Given the description of an element on the screen output the (x, y) to click on. 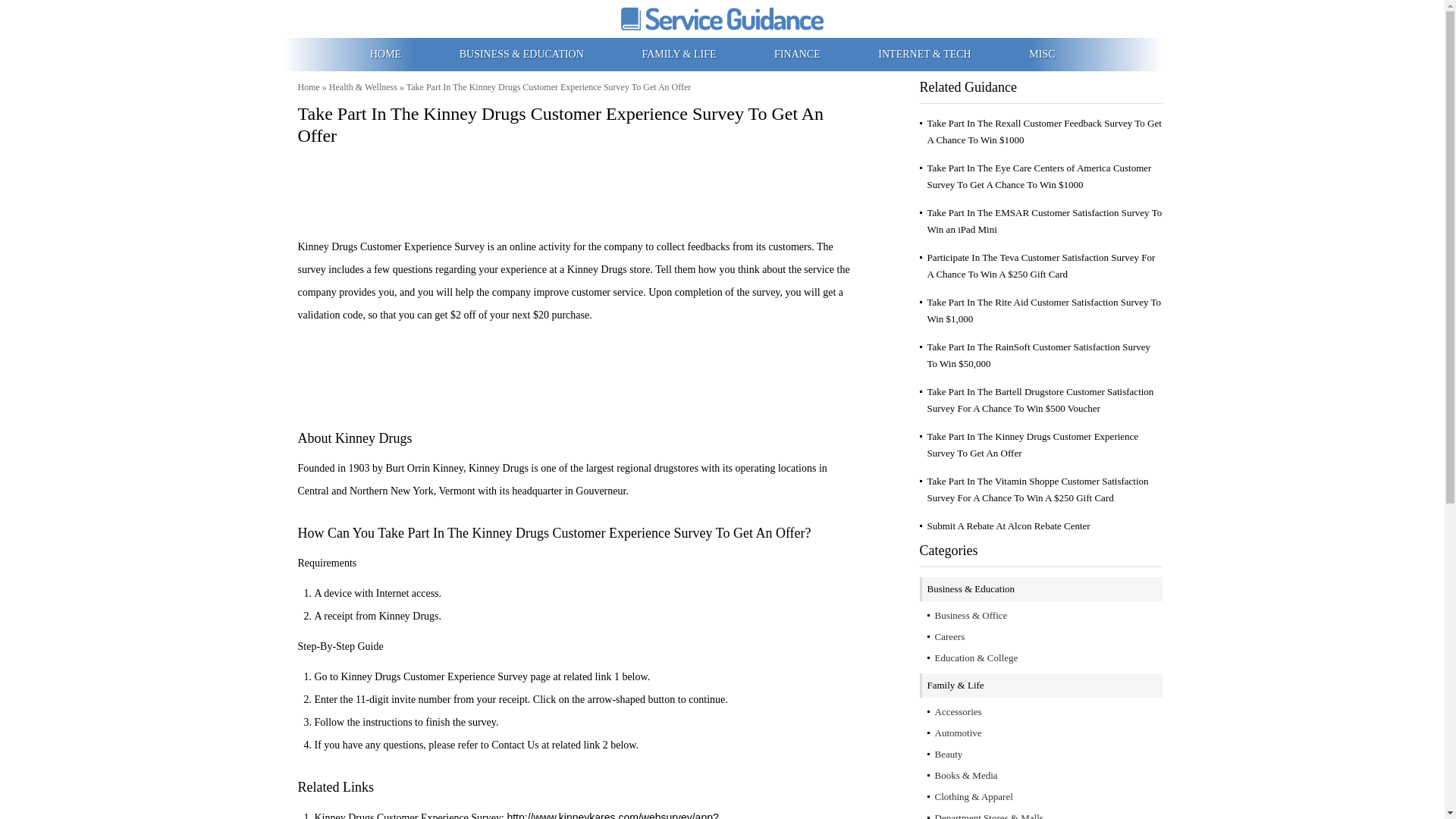
Submit A Rebate At Alcon Rebate Center (1007, 525)
View all posts filed under Finance (798, 53)
FINANCE (798, 53)
Advertisement (578, 368)
MISC (1041, 53)
Beauty (948, 754)
Automotive (957, 732)
Accessories (957, 711)
Home (307, 86)
View all posts filed under Misc (1041, 53)
Advertisement (578, 188)
HOME (386, 53)
Careers (948, 636)
